Given the description of an element on the screen output the (x, y) to click on. 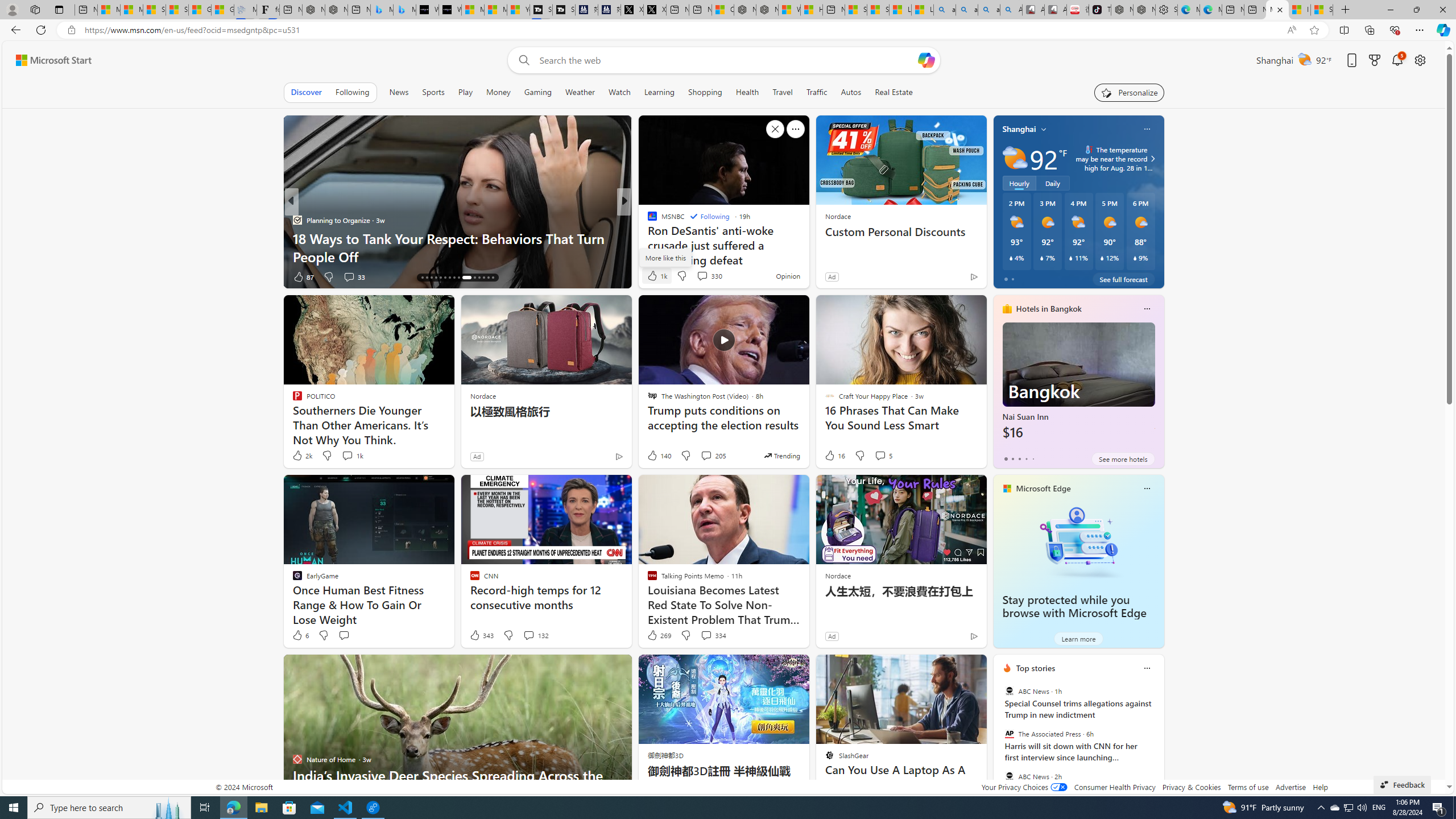
View comments 1 Comment (702, 276)
LGBTQ Nation (647, 219)
TikTok (1099, 9)
Comments turned off for this story (694, 276)
Amazon Echo Robot - Search Images (1010, 9)
18 Ways to Tank Your Respect: Behaviors That Turn People Off (457, 247)
181 Like (654, 276)
16 Like (834, 455)
